Given the description of an element on the screen output the (x, y) to click on. 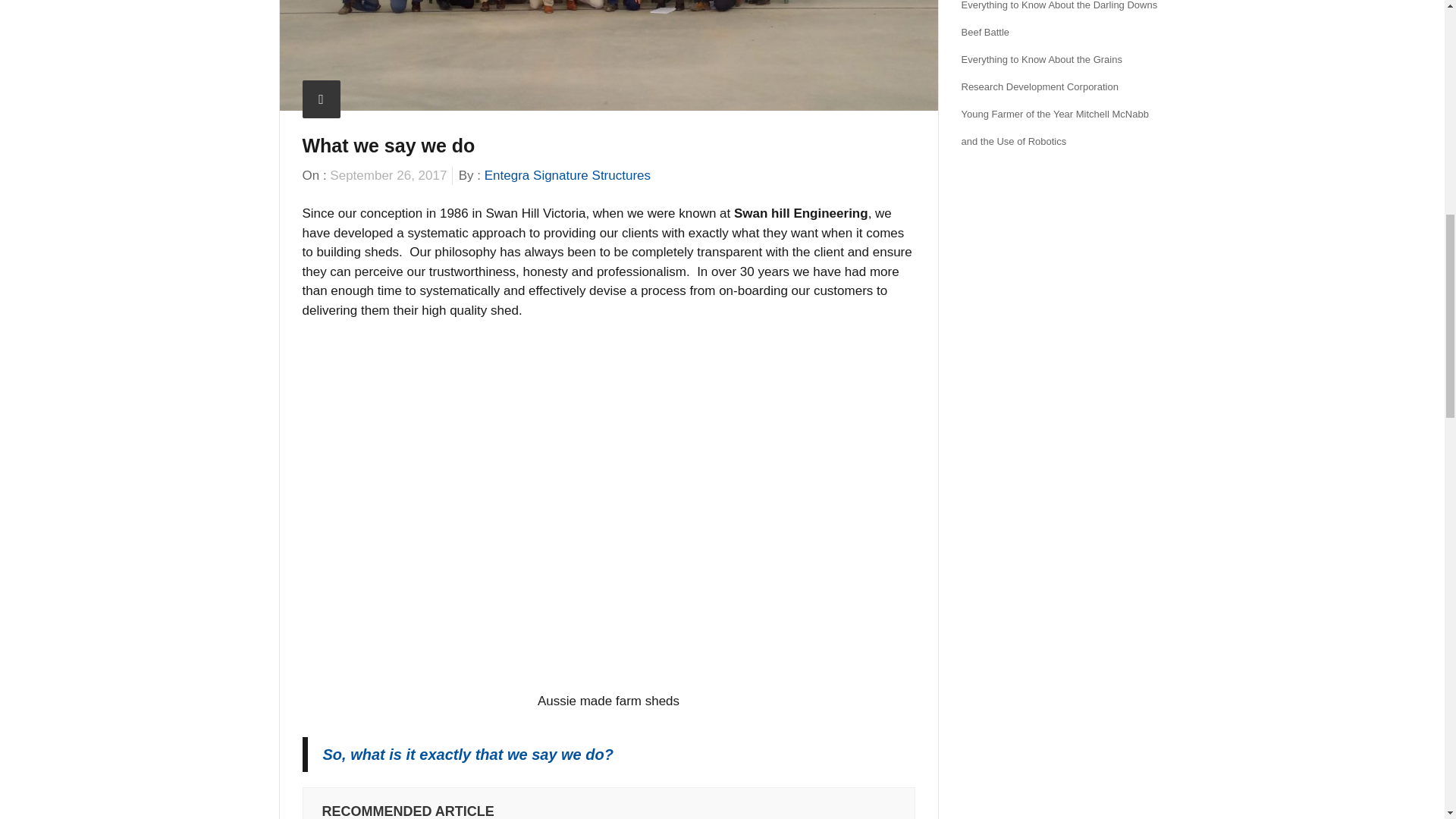
Entegra Signature Structures (567, 175)
